Given the description of an element on the screen output the (x, y) to click on. 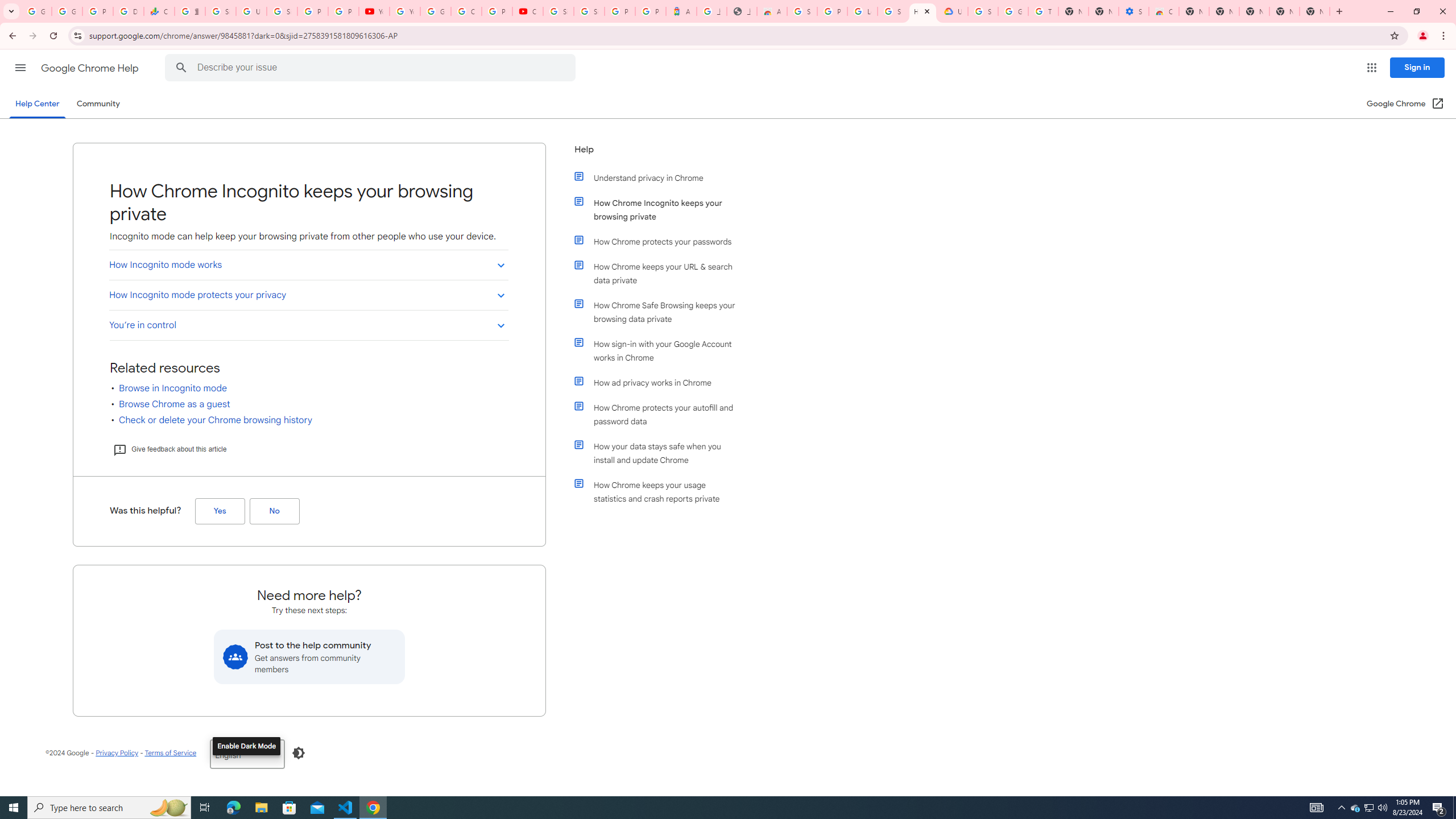
Terms of Service (170, 752)
YouTube (404, 11)
Awesome Screen Recorder & Screenshot - Chrome Web Store (771, 11)
Sign in - Google Accounts (982, 11)
How Chrome Safe Browsing keeps your browsing data private (661, 312)
No (Was this helpful?) (273, 510)
Turn cookies on or off - Computer - Google Account Help (1042, 11)
Browse in Incognito mode (173, 387)
How Chrome protects your autofill and password data (661, 414)
Google Account Help (1012, 11)
Google Chrome Help (90, 68)
